Given the description of an element on the screen output the (x, y) to click on. 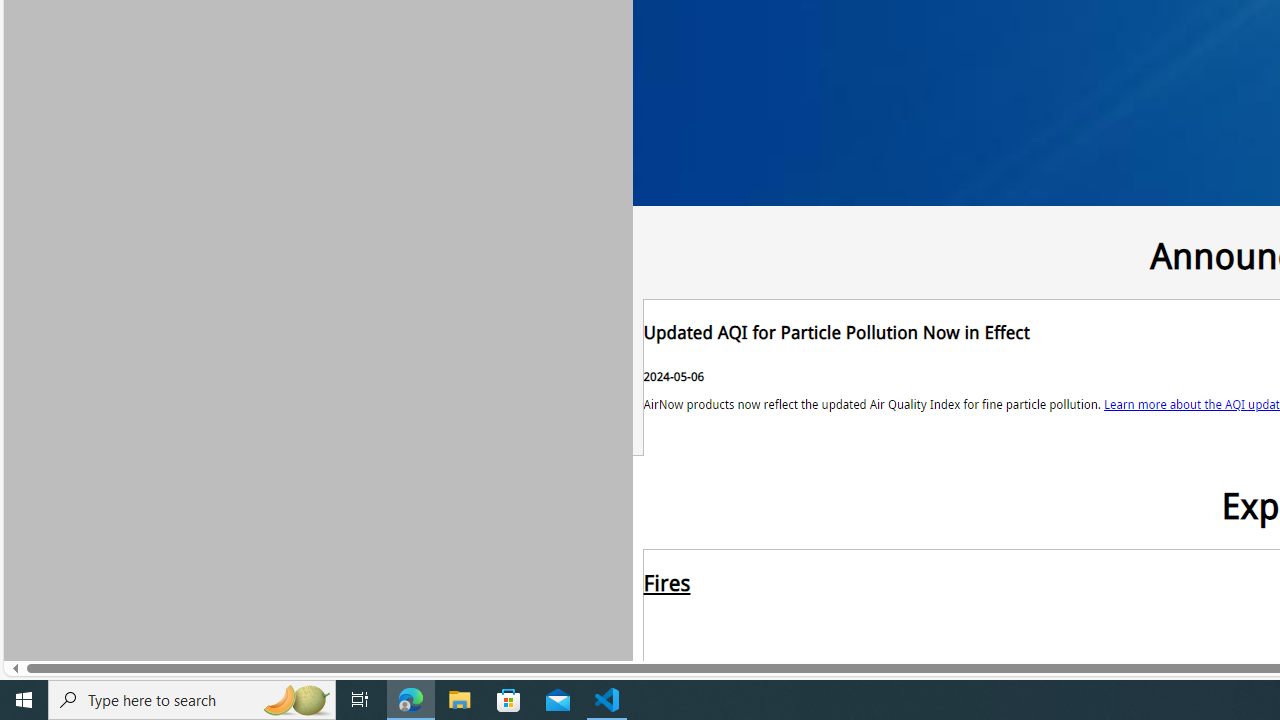
EPA (692, 249)
EPA (692, 254)
PARTNERS (801, 254)
